Given the description of an element on the screen output the (x, y) to click on. 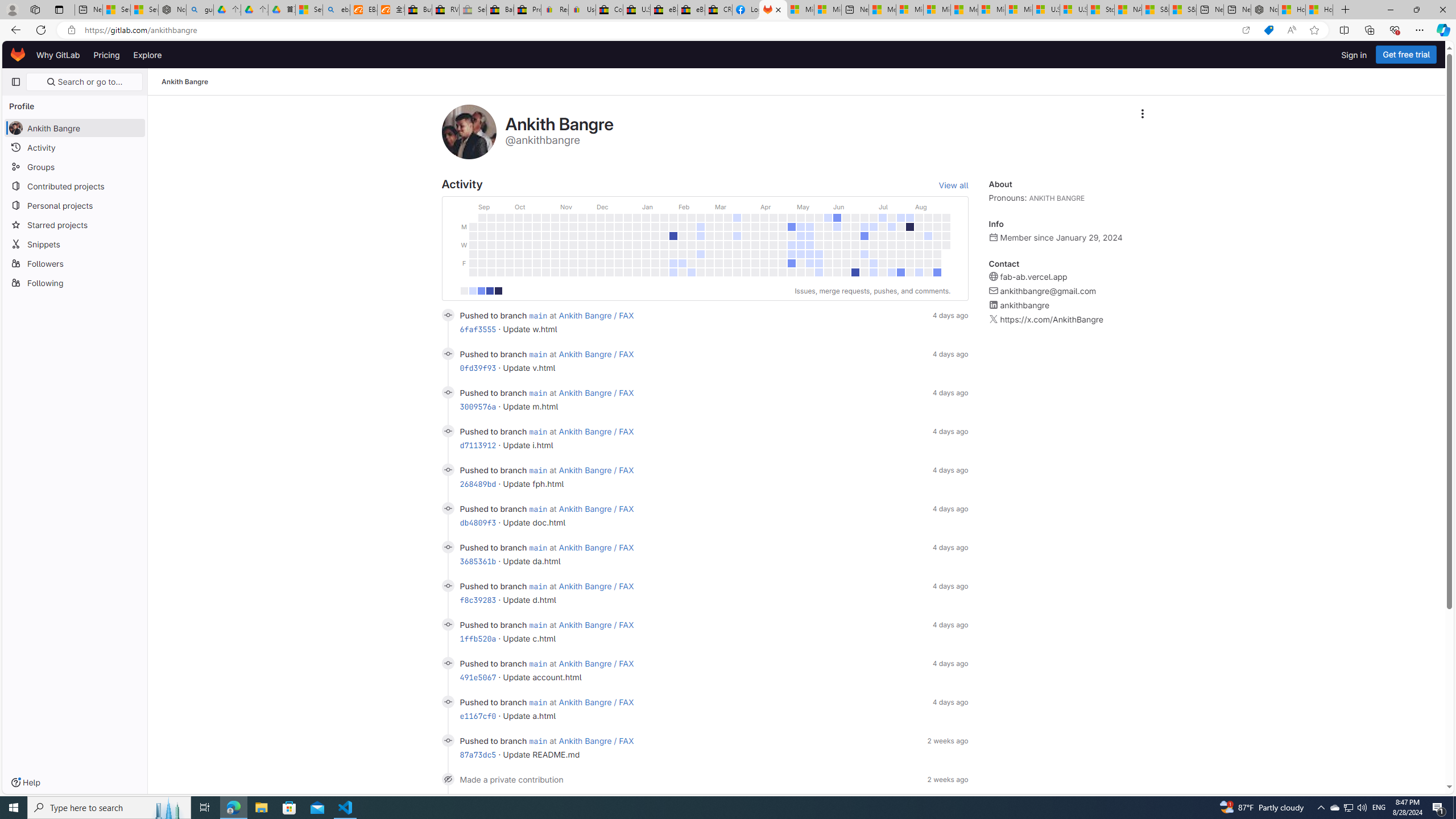
Homepage (17, 54)
Get free trial (1406, 54)
Starred projects (74, 224)
